Given the description of an element on the screen output the (x, y) to click on. 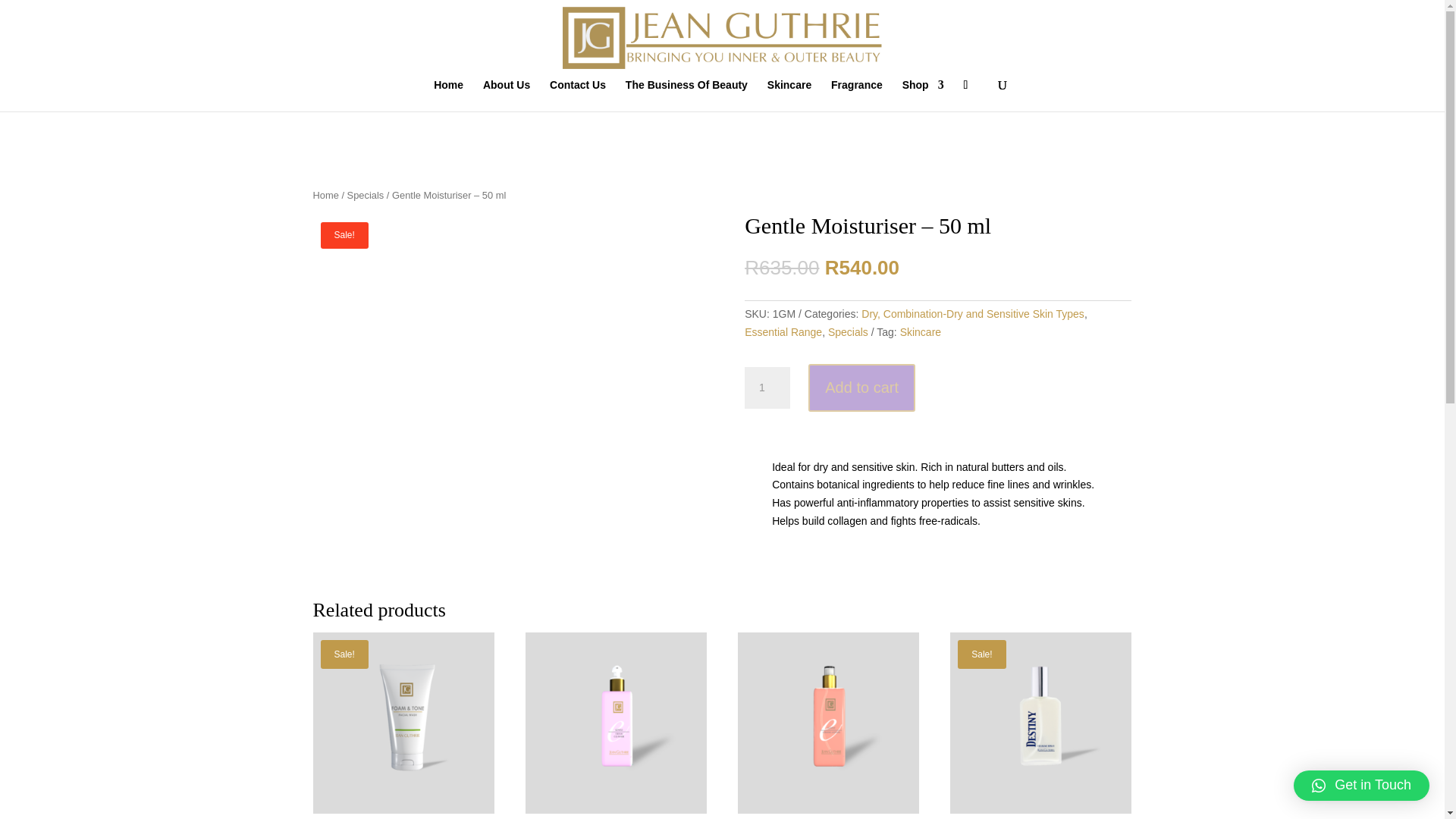
Fragrance (856, 95)
1 (767, 387)
Shop (922, 95)
About Us (506, 95)
Contact Us (577, 95)
Skincare (788, 95)
Specials (365, 194)
The Business Of Beauty (687, 95)
Home (448, 95)
Home (325, 194)
